Given the description of an element on the screen output the (x, y) to click on. 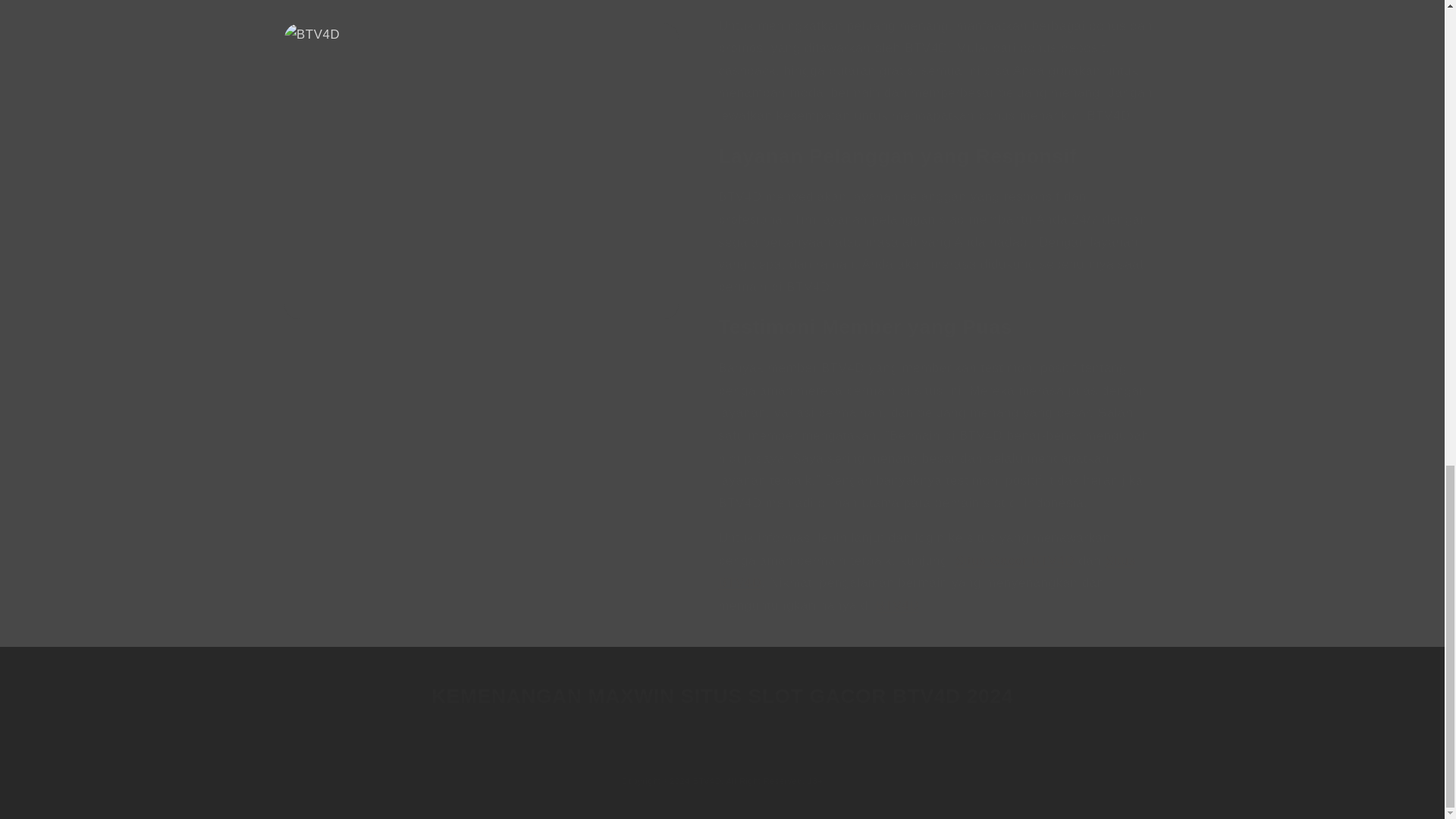
Situs Gacor BTV4D (1014, 540)
BTV4D (897, 585)
KEMENANGAN MAXWIN SITUS SLOT GACOR BTV4D 2024 (722, 696)
Situs BTV4D (926, 551)
